Given the description of an element on the screen output the (x, y) to click on. 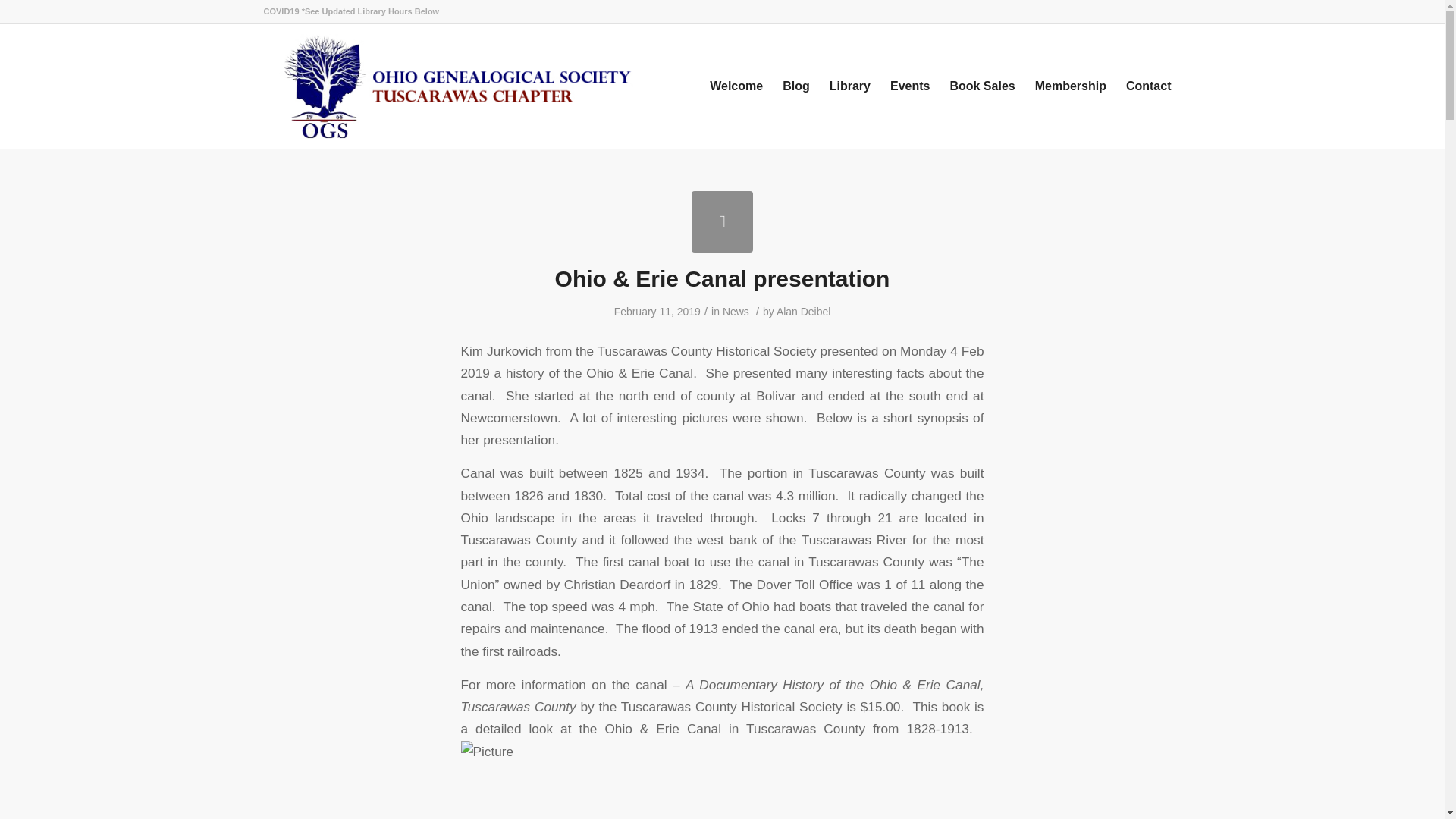
News (735, 311)
Posts by Alan Deibel (802, 311)
Alan Deibel (802, 311)
